Given the description of an element on the screen output the (x, y) to click on. 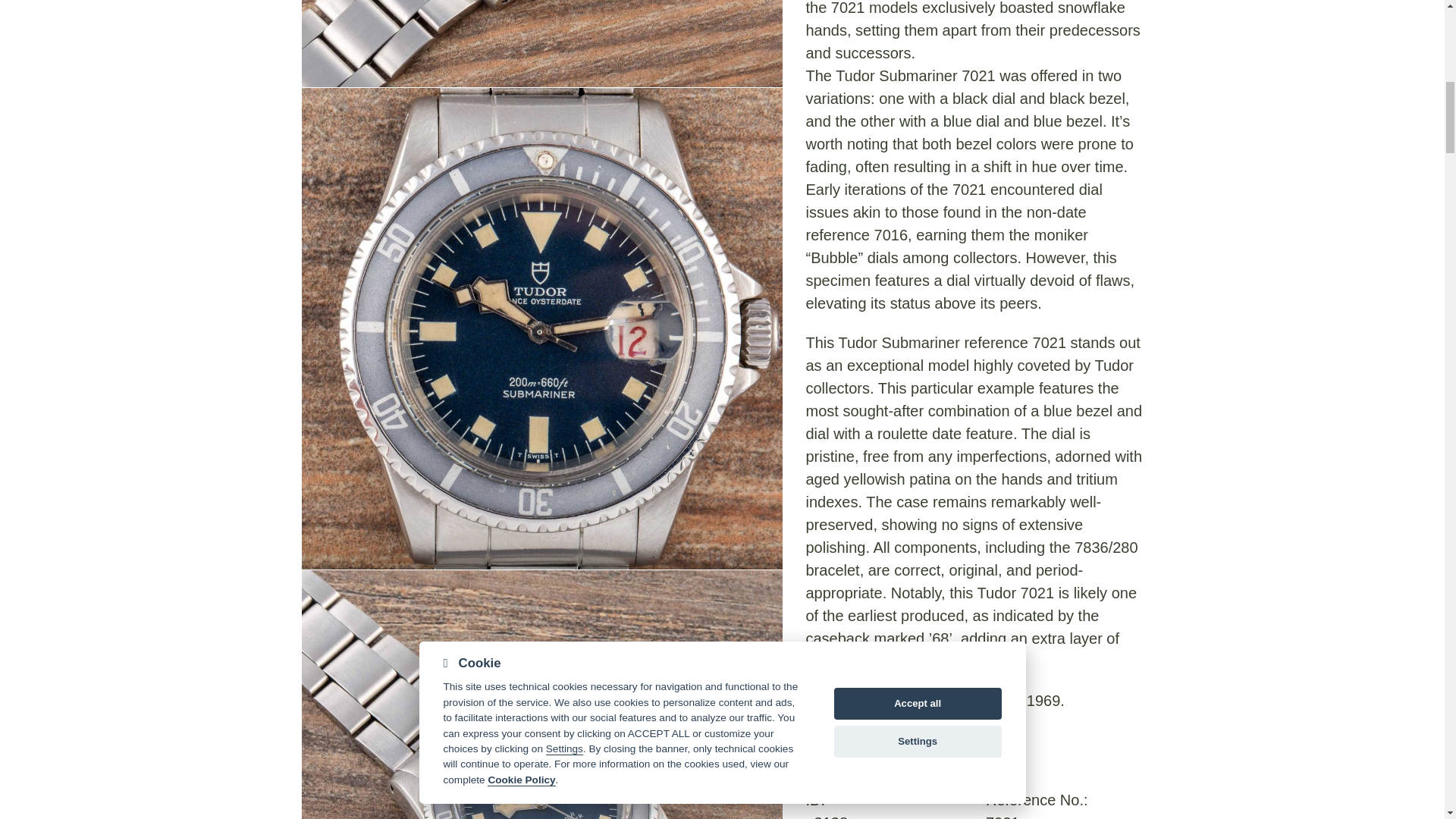
Tudor SUBMARINER DATE SNOWFLAKE REF. 7021 (542, 43)
Tudor SUBMARINER DATE SNOWFLAKE REF. 7021 (542, 694)
